Given the description of an element on the screen output the (x, y) to click on. 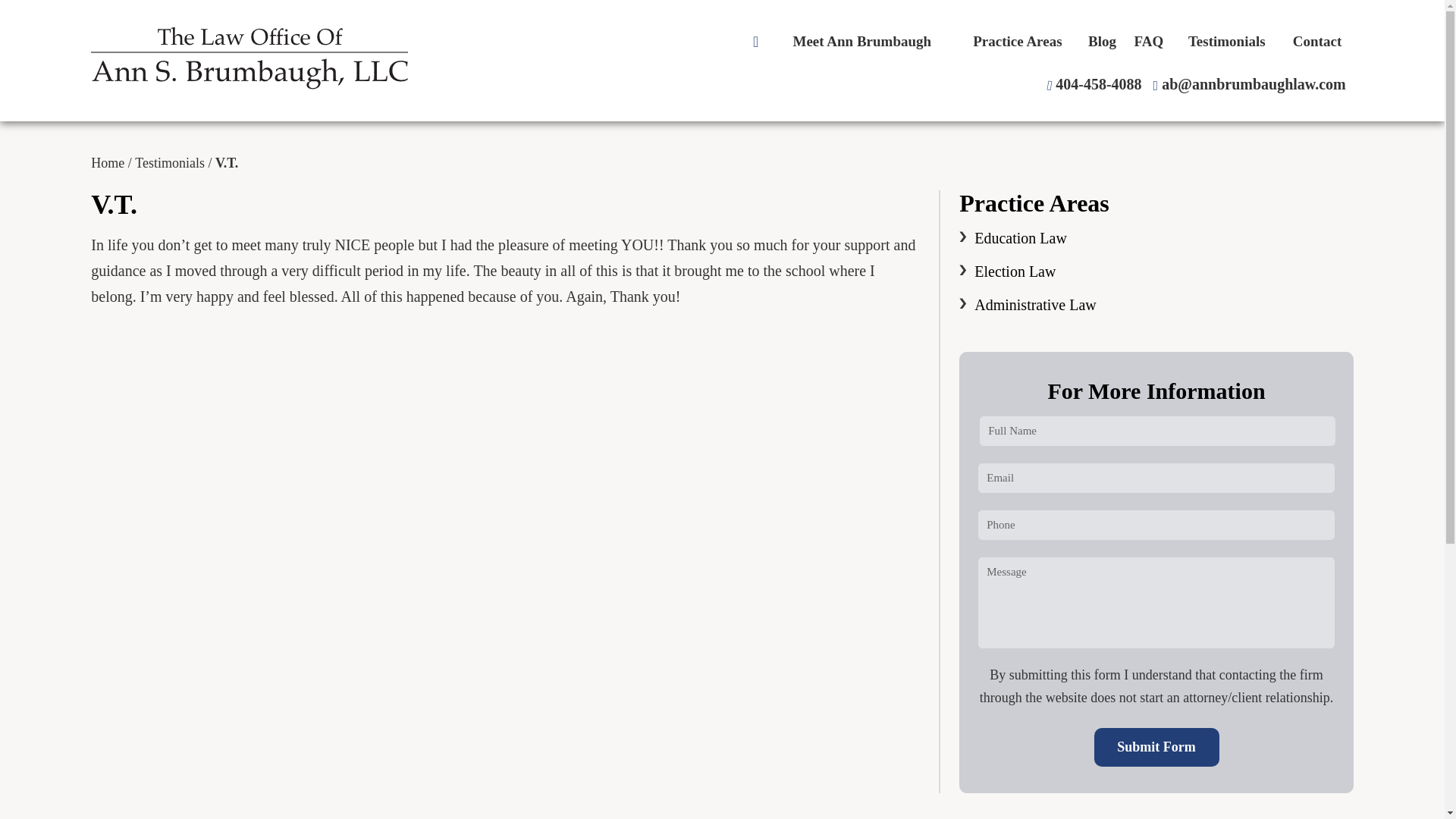
Testimonials (1226, 41)
Read more about Election Law (1014, 271)
Practice Areas (1016, 41)
Blog (1102, 41)
Home (106, 162)
Administrative Law (1035, 304)
Education Law (1020, 238)
Email (1249, 84)
Read more about Administrative Law (1035, 304)
Home (757, 40)
FAQ (1148, 41)
Meet Ann Brumbaugh (861, 41)
Submit Form (1155, 747)
Read more about Education Law (1020, 238)
Testimonials (170, 162)
